Given the description of an element on the screen output the (x, y) to click on. 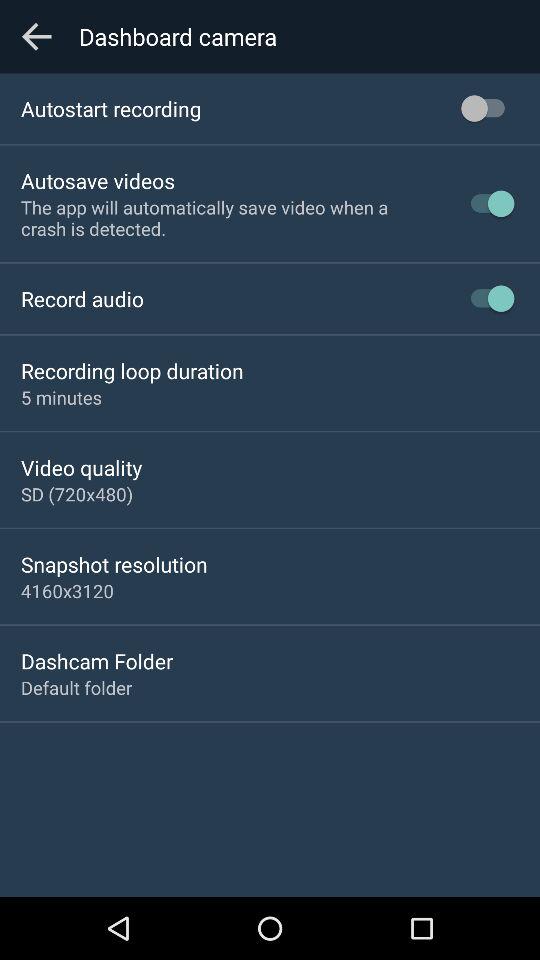
choose item below the video quality (77, 493)
